Given the description of an element on the screen output the (x, y) to click on. 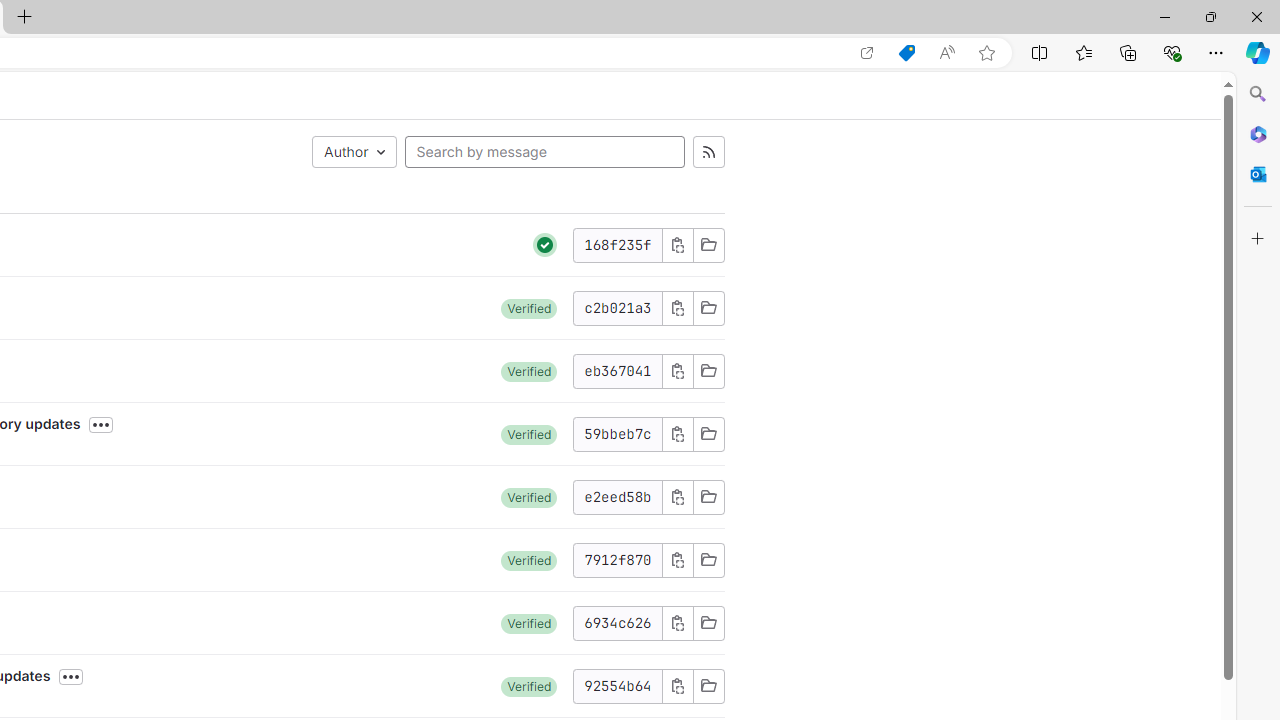
Author (354, 151)
Class: s16 (708, 686)
Browse Files (708, 686)
Verified (529, 685)
Toggle commit description (71, 677)
Search by message (544, 151)
Pipeline: passed (545, 245)
